Given the description of an element on the screen output the (x, y) to click on. 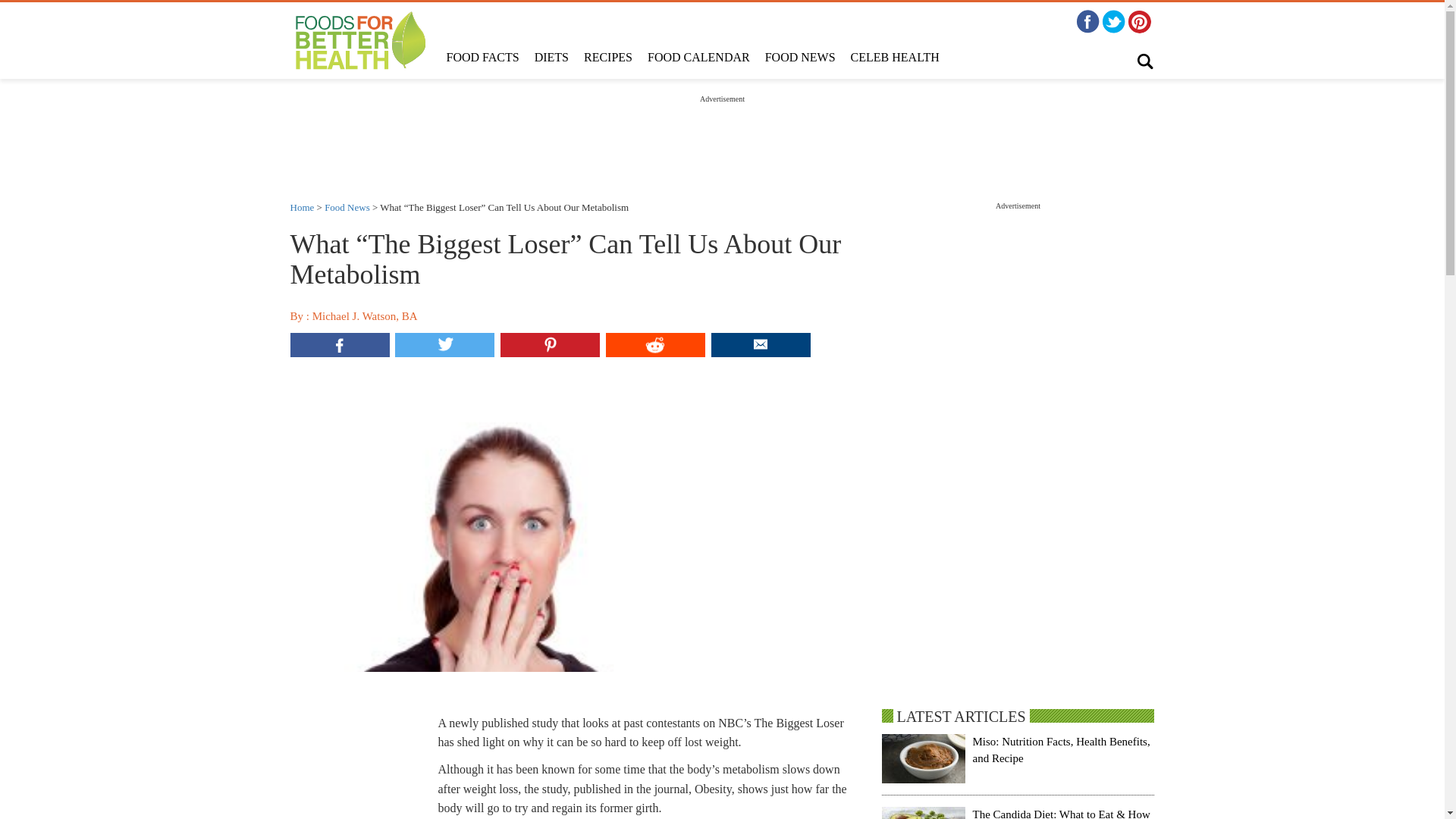
FOOD NEWS (800, 57)
Posts by Michael J. Watson, BA (365, 316)
Miso: Nutrition Facts, Health Benefits, and Recipe (1061, 749)
Food News (346, 206)
CELEB HEALTH (895, 57)
Home (301, 206)
DIETS (551, 57)
FOOD FACTS (481, 57)
Michael J. Watson, BA (365, 316)
FOOD CALENDAR (698, 57)
